Given the description of an element on the screen output the (x, y) to click on. 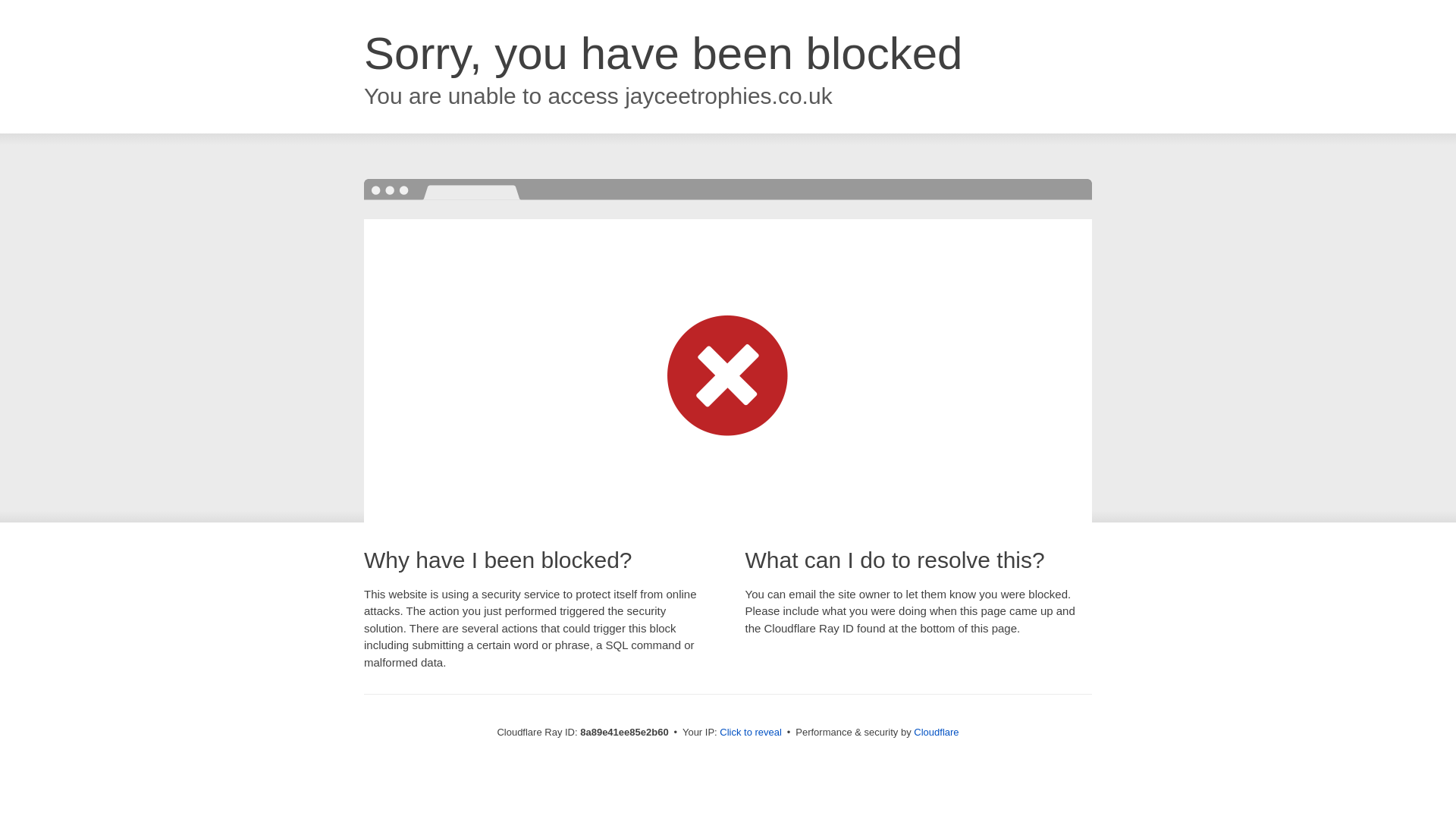
Cloudflare (936, 731)
Click to reveal (750, 732)
